Given the description of an element on the screen output the (x, y) to click on. 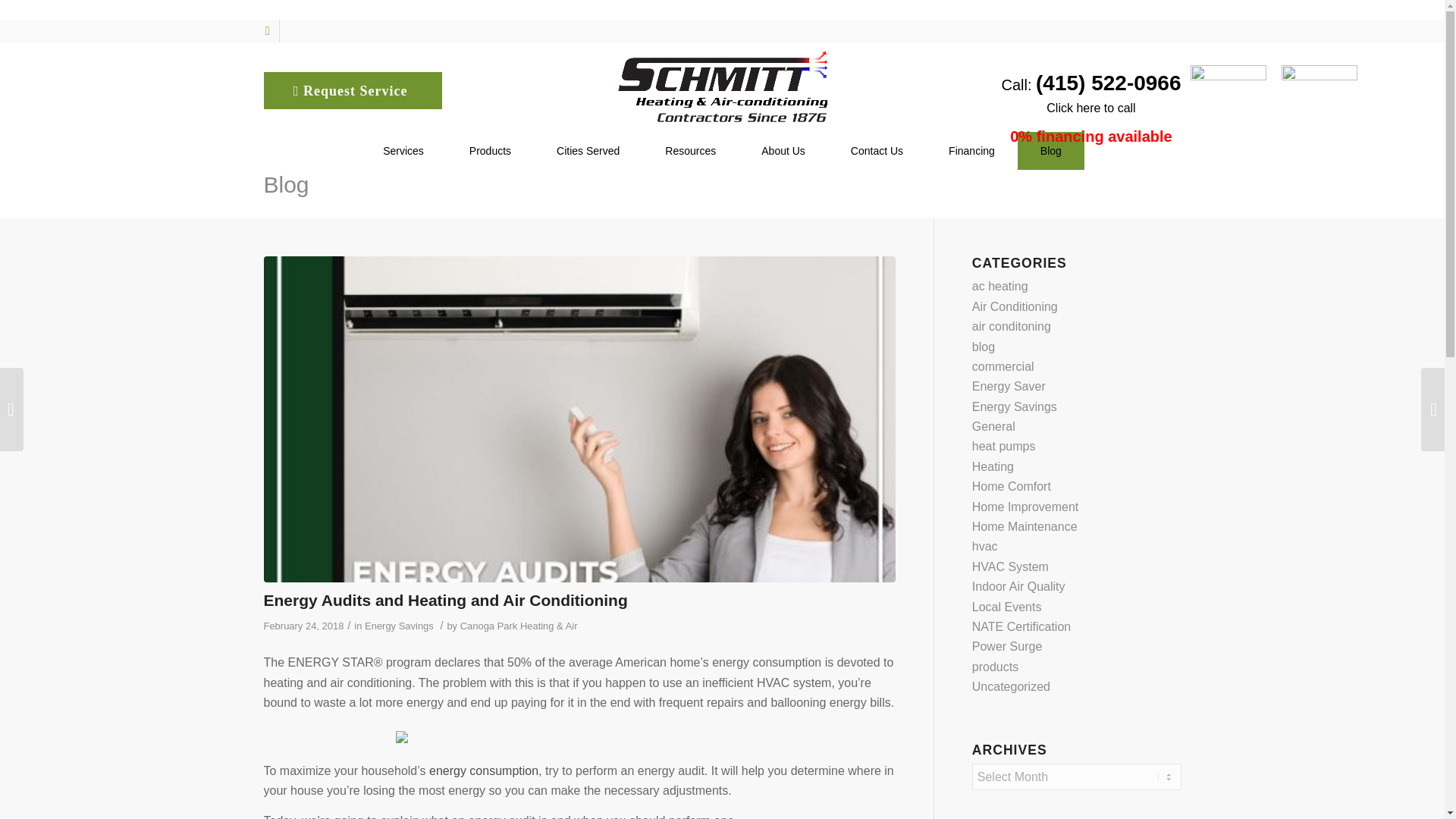
Gplus (290, 30)
energy consumption (483, 770)
Services (402, 150)
Contact Us (877, 150)
Energy Savings (399, 625)
Financing (971, 150)
About Us (783, 150)
Click here to call (1090, 107)
Facebook (267, 30)
